Given the description of an element on the screen output the (x, y) to click on. 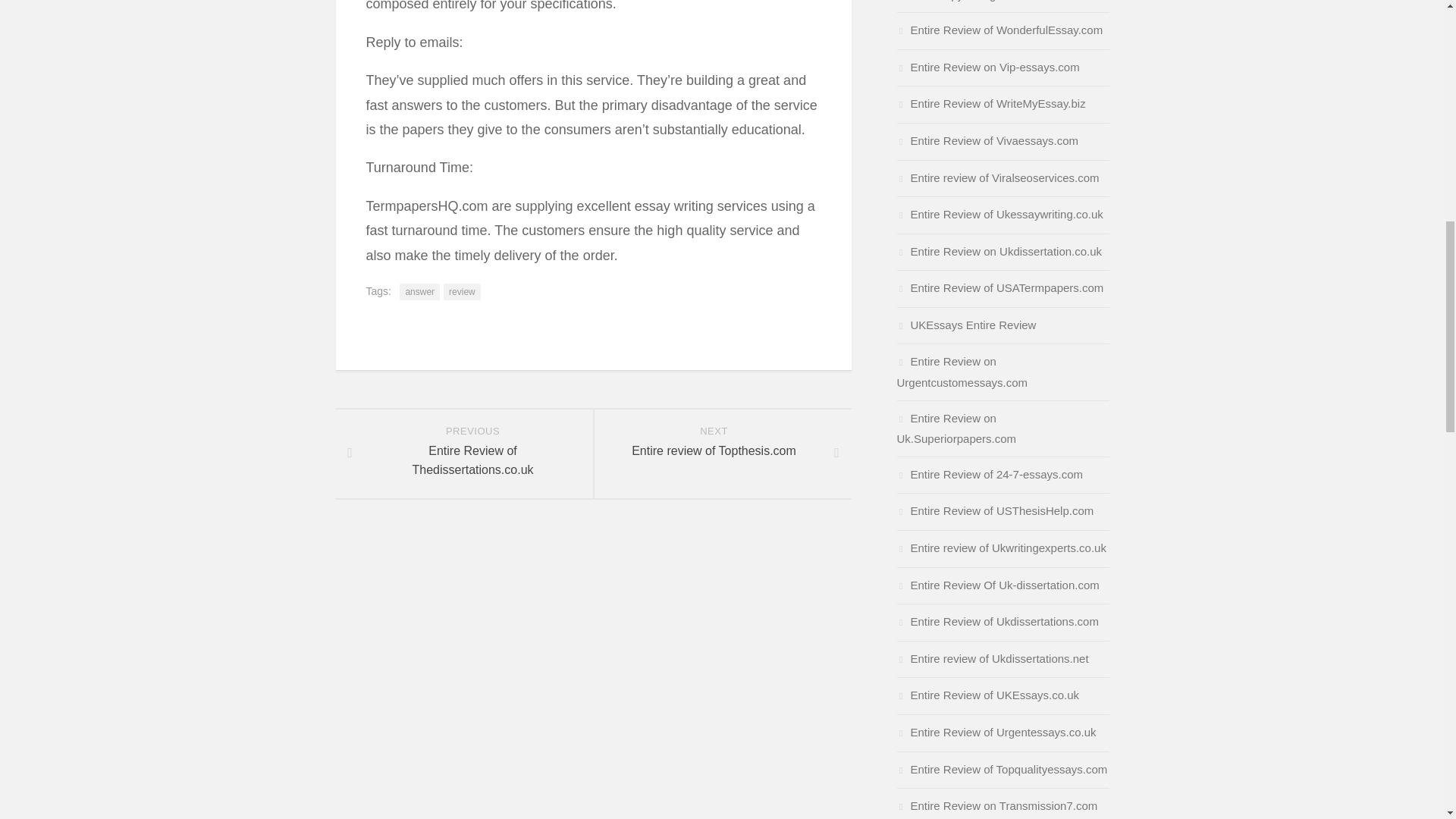
Entire Review of USATermpapers.com (999, 287)
Entire Review on Ukdissertation.co.uk (999, 250)
Entire Review of Urgentessays.co.uk (996, 731)
answer (721, 453)
Entire Review on Transmission7.com (418, 291)
Entire Review of Ukdissertations.com (996, 805)
Entire Review Of Williamscopywriting.co.uk (996, 621)
Entire review of Viralseoservices.com (961, 0)
Entire Review of Topqualityessays.com (997, 177)
Entire Review of USThesisHelp.com (1001, 768)
Entire Review on Urgentcustomessays.com (994, 510)
review (961, 371)
Entire Review of WriteMyEssay.biz (462, 291)
Entire Review of WonderfulEssay.com (990, 103)
